Given the description of an element on the screen output the (x, y) to click on. 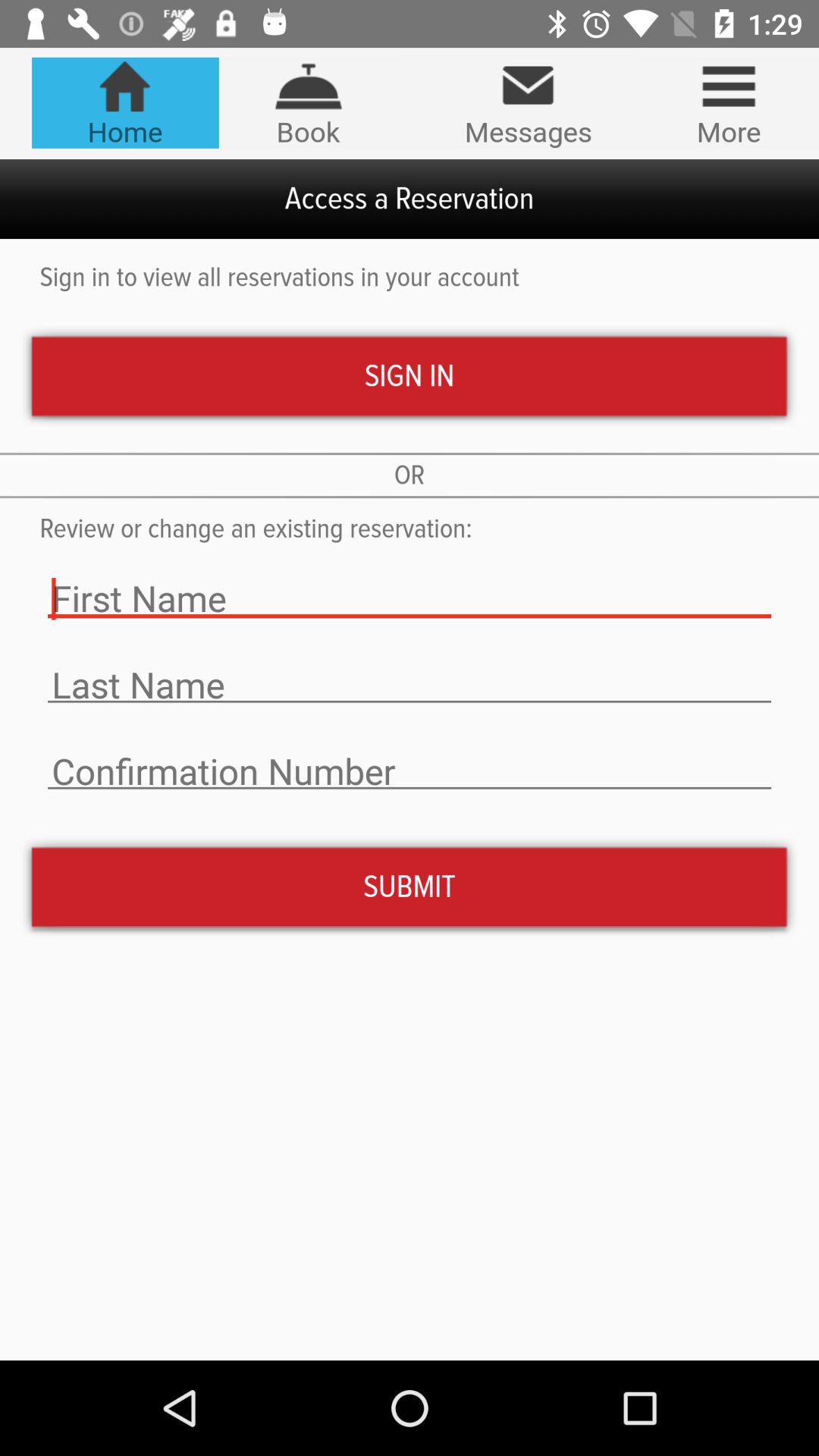
choose icon next to the messages icon (728, 102)
